Given the description of an element on the screen output the (x, y) to click on. 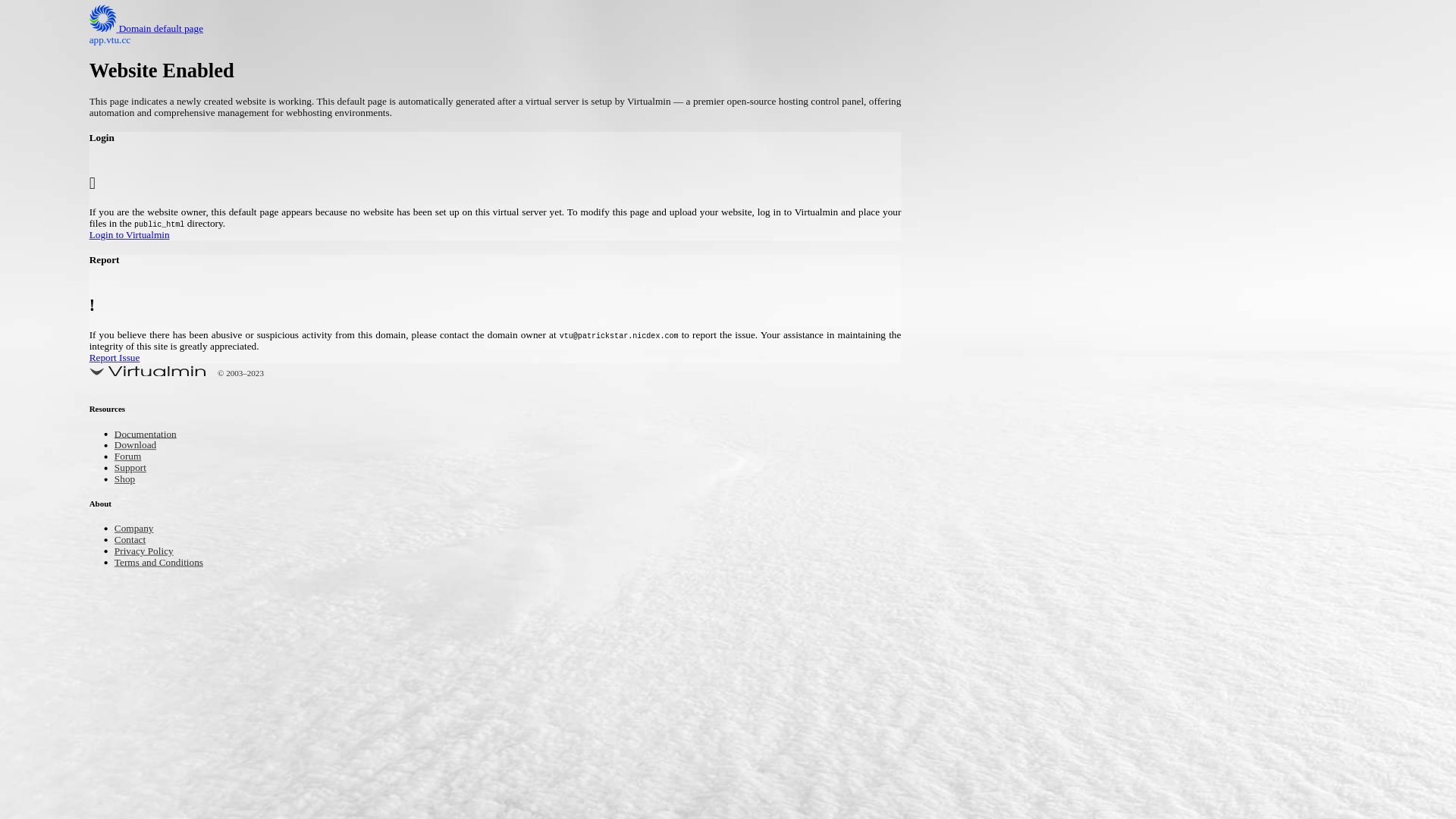
Privacy Policy Element type: text (149, 551)
Login to Virtualmin Element type: text (578, 236)
Download Element type: text (139, 445)
Contact Element type: text (133, 539)
Report Issue Element type: text (578, 358)
Shop Element type: text (126, 479)
Company Element type: text (137, 529)
Terms and Conditions Element type: text (167, 562)
Support Element type: text (133, 468)
Forum Element type: text (130, 457)
Domain default page Element type: text (157, 28)
Documentation Element type: text (151, 434)
